Given the description of an element on the screen output the (x, y) to click on. 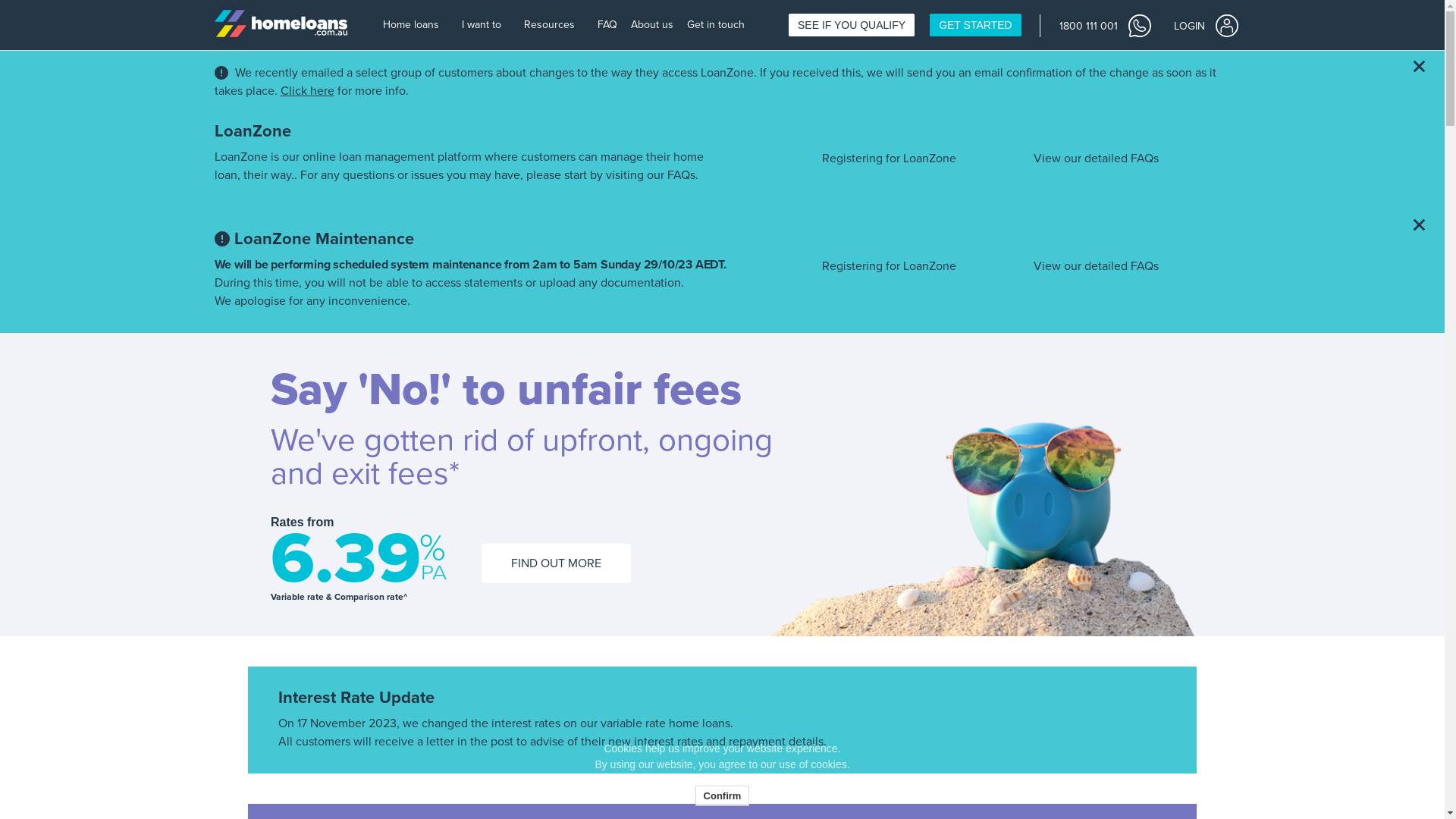
1800 111 001
  Element type: text (1104, 24)
LEARN MORE Element type: text (385, 529)
About us Element type: text (652, 25)
View our detailed FAQs Element type: text (1095, 265)
LOGIN
  Element type: text (1205, 24)
SEE IF YOU QUALIFY Element type: text (851, 24)
Resources Element type: text (555, 25)
Get in touch Element type: text (716, 25)
X Element type: text (1428, 739)
Home loans Element type: text (416, 25)
GET STARTED Element type: text (974, 24)
FAQ Element type: text (608, 25)
View our detailed FAQs Element type: text (1095, 158)
Confirm Element type: text (722, 795)
Click here Element type: text (307, 90)
Registering for LoanZone Element type: text (889, 158)
I want to Element type: text (486, 25)
Registering for LoanZone Element type: text (889, 265)
